Given the description of an element on the screen output the (x, y) to click on. 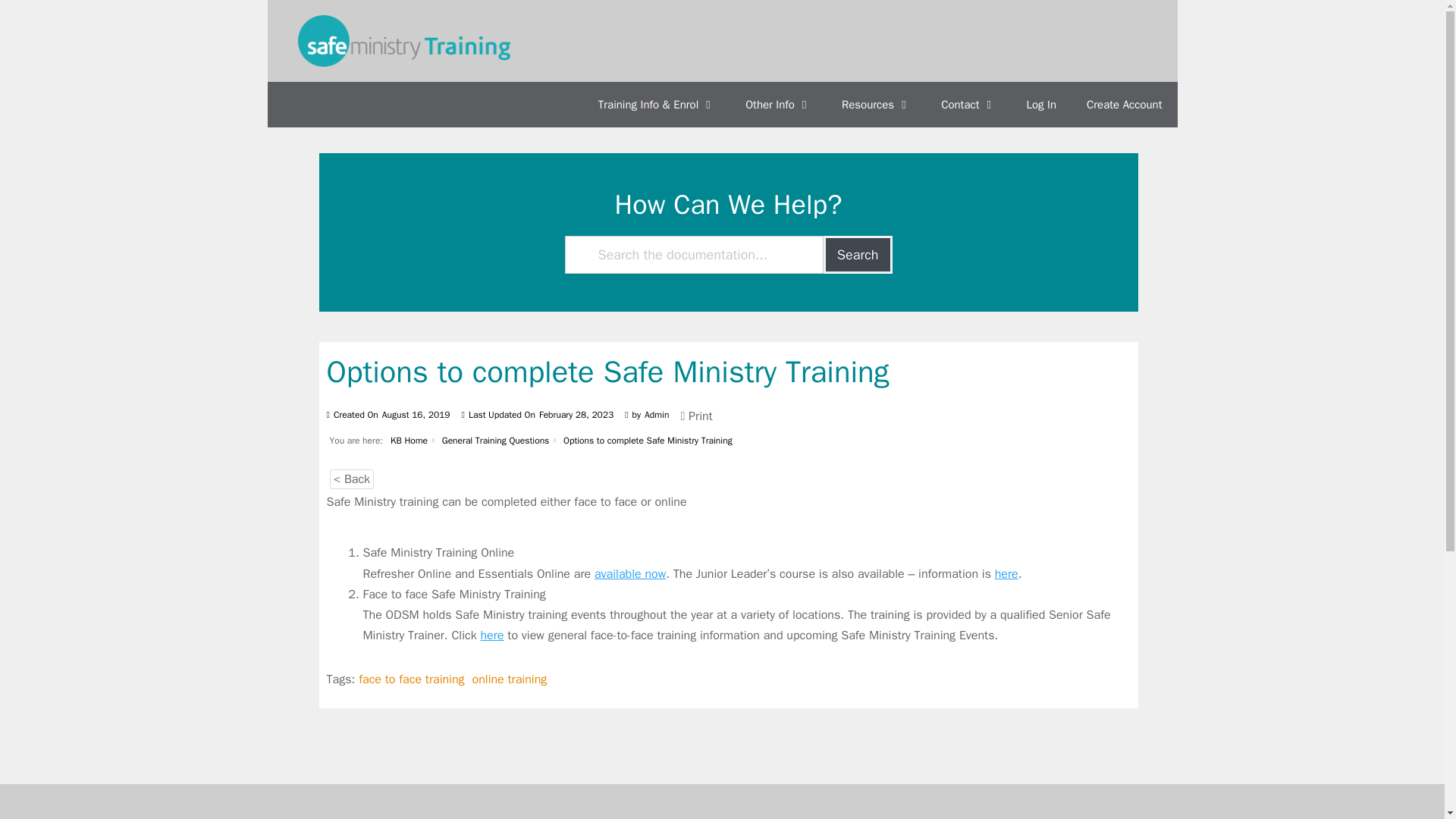
Other Info (778, 104)
